Given the description of an element on the screen output the (x, y) to click on. 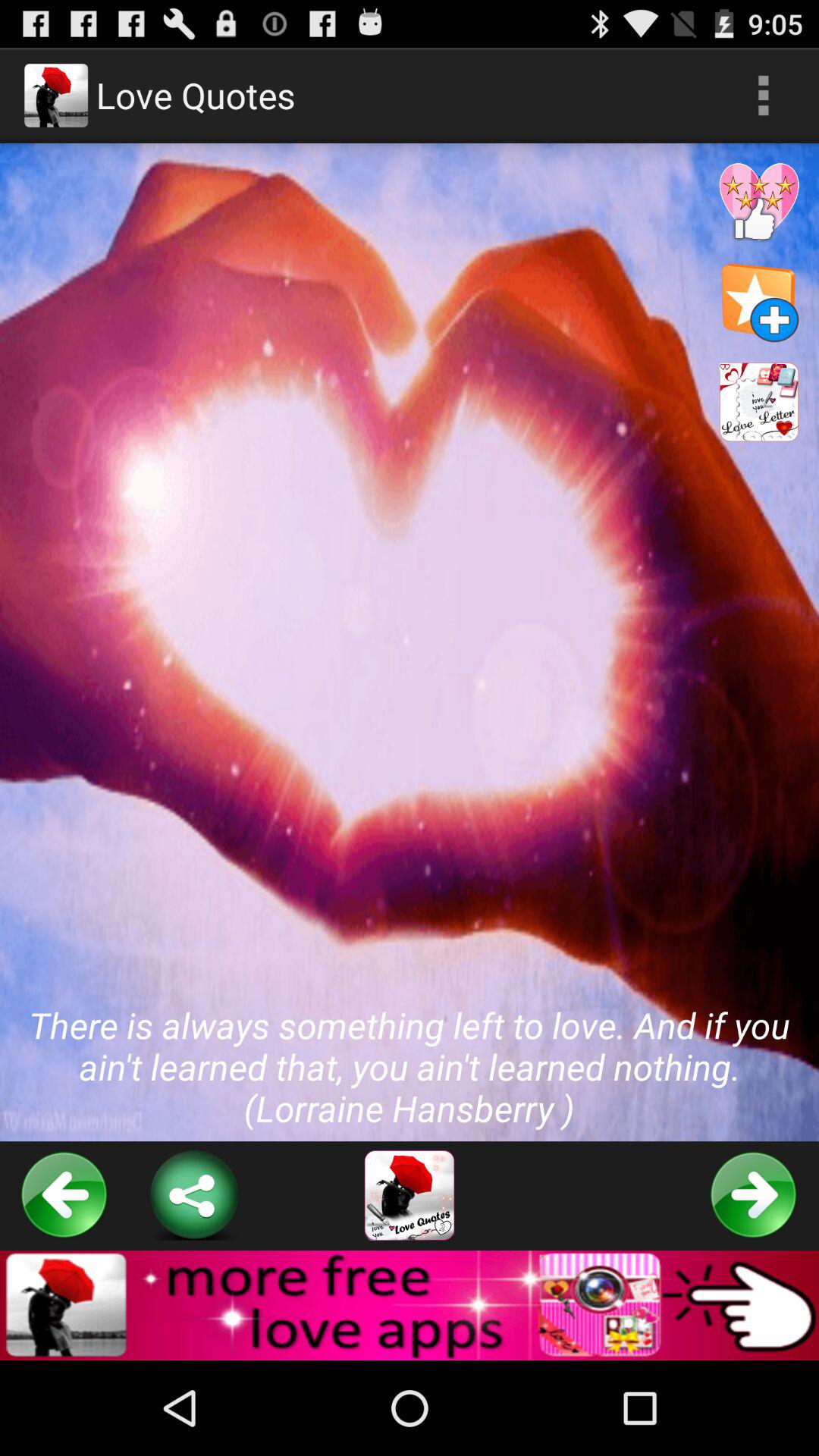
turn on the button below there is always item (409, 1195)
